Given the description of an element on the screen output the (x, y) to click on. 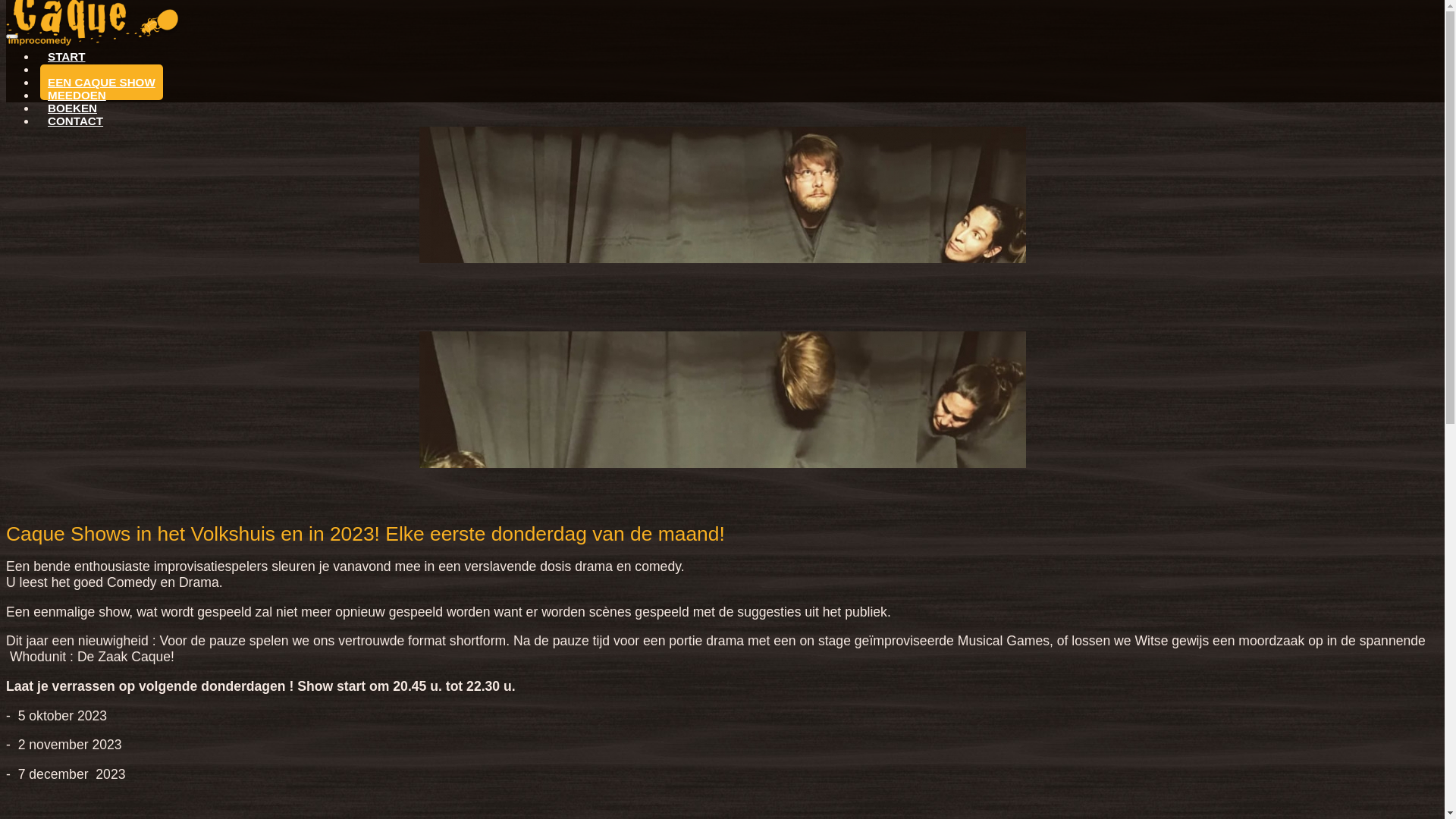
CONTACT Element type: text (75, 120)
START Element type: text (66, 56)
BOEKEN Element type: text (72, 107)
MEEDOEN Element type: text (76, 94)
EEN CAQUE SHOW Element type: text (101, 82)
OVER Element type: text (63, 69)
